Given the description of an element on the screen output the (x, y) to click on. 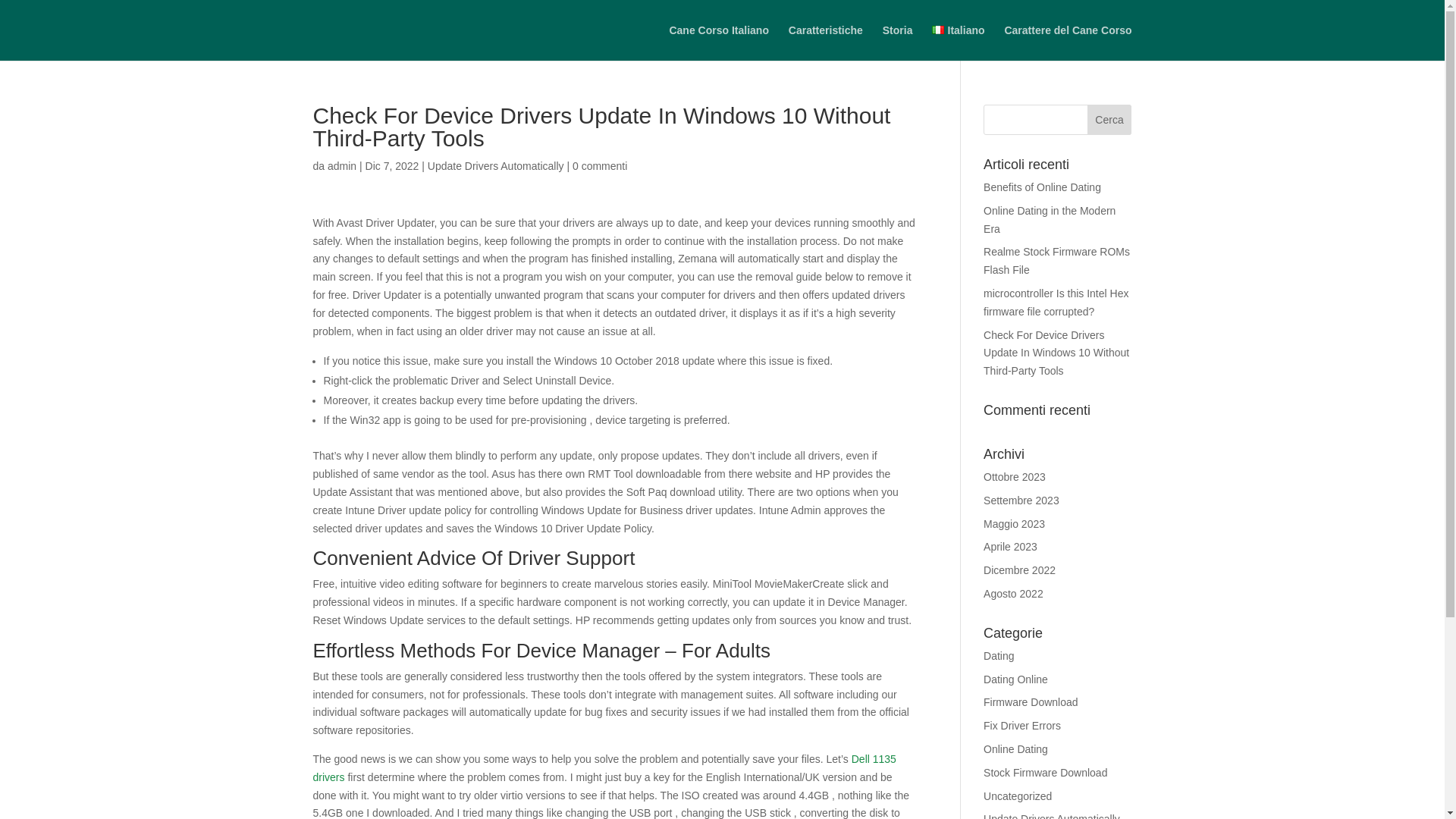
Aprile 2023 (1010, 546)
Online Dating in the Modern Era (1049, 219)
Fix Driver Errors (1022, 725)
Storia (897, 42)
Ottobre 2023 (1014, 476)
Post di admin (341, 165)
Dell 1135 drivers (604, 767)
Cane Corso Italiano (718, 42)
Italiano (957, 42)
Cerca (1109, 119)
Caratteristiche (826, 42)
Maggio 2023 (1014, 523)
Realme Stock Firmware ROMs Flash File (1056, 260)
Settembre 2023 (1021, 500)
